Given the description of an element on the screen output the (x, y) to click on. 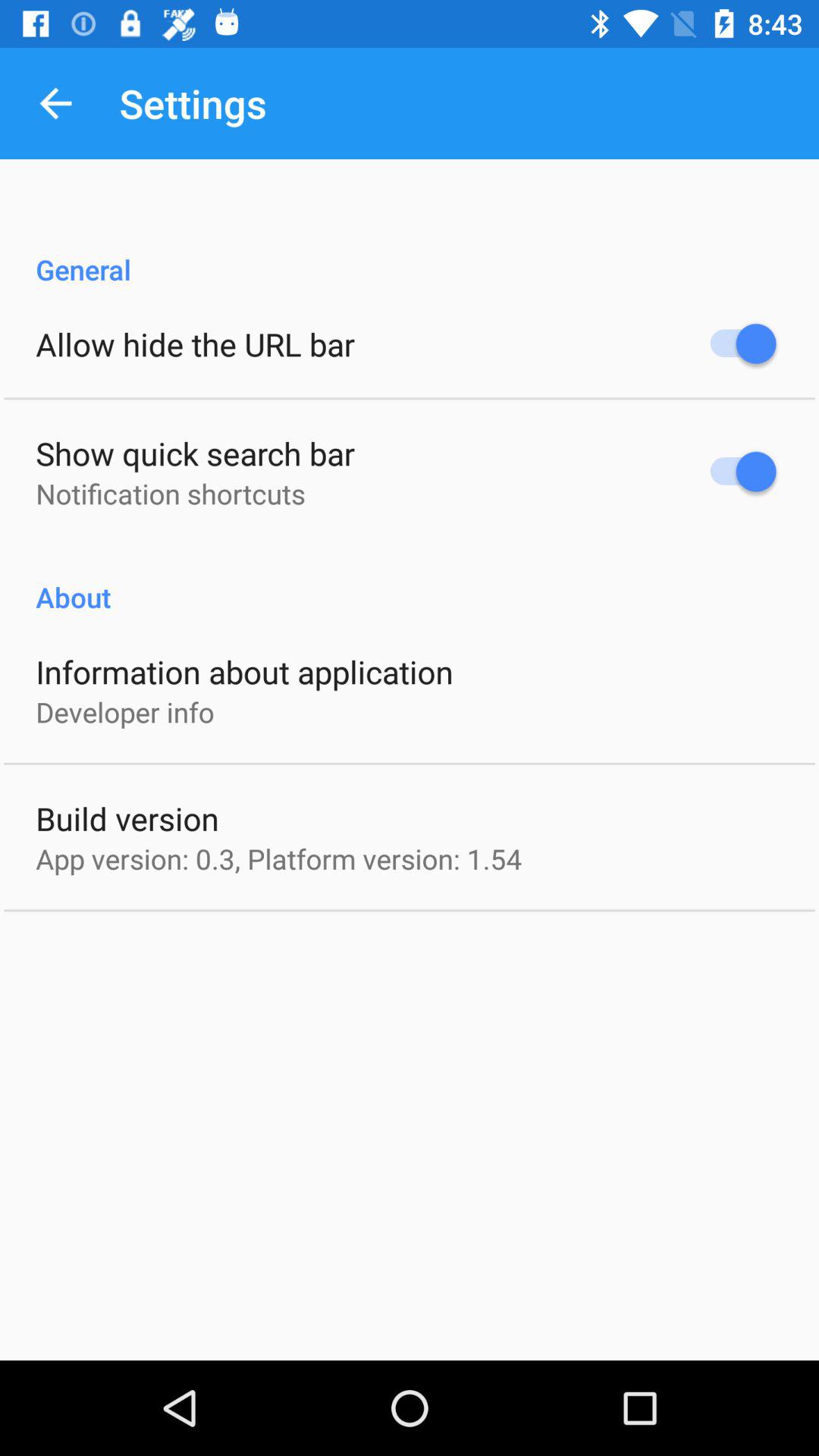
choose developer info (124, 711)
